Given the description of an element on the screen output the (x, y) to click on. 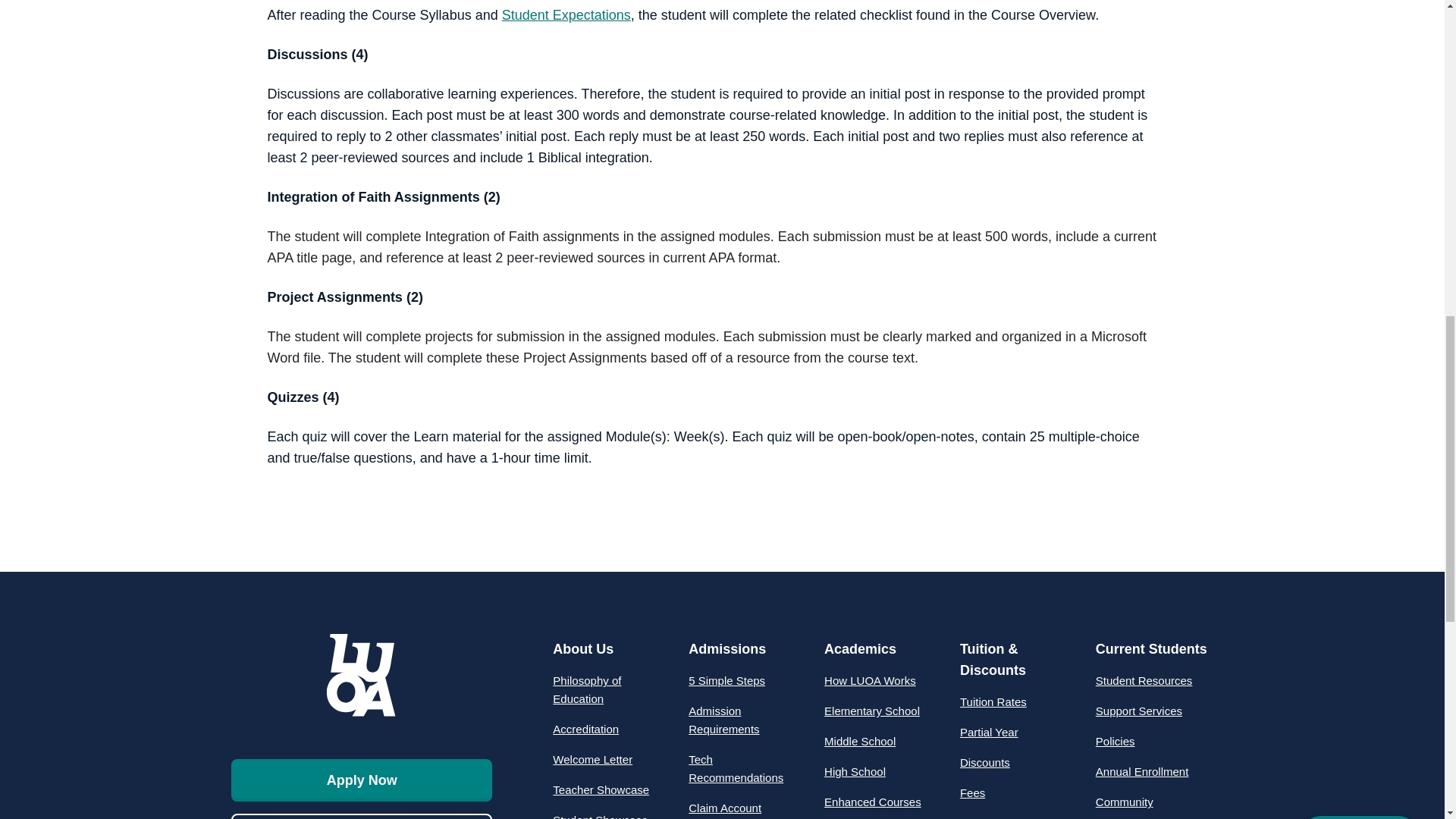
Online Academy - Liberty University (361, 674)
